Given the description of an element on the screen output the (x, y) to click on. 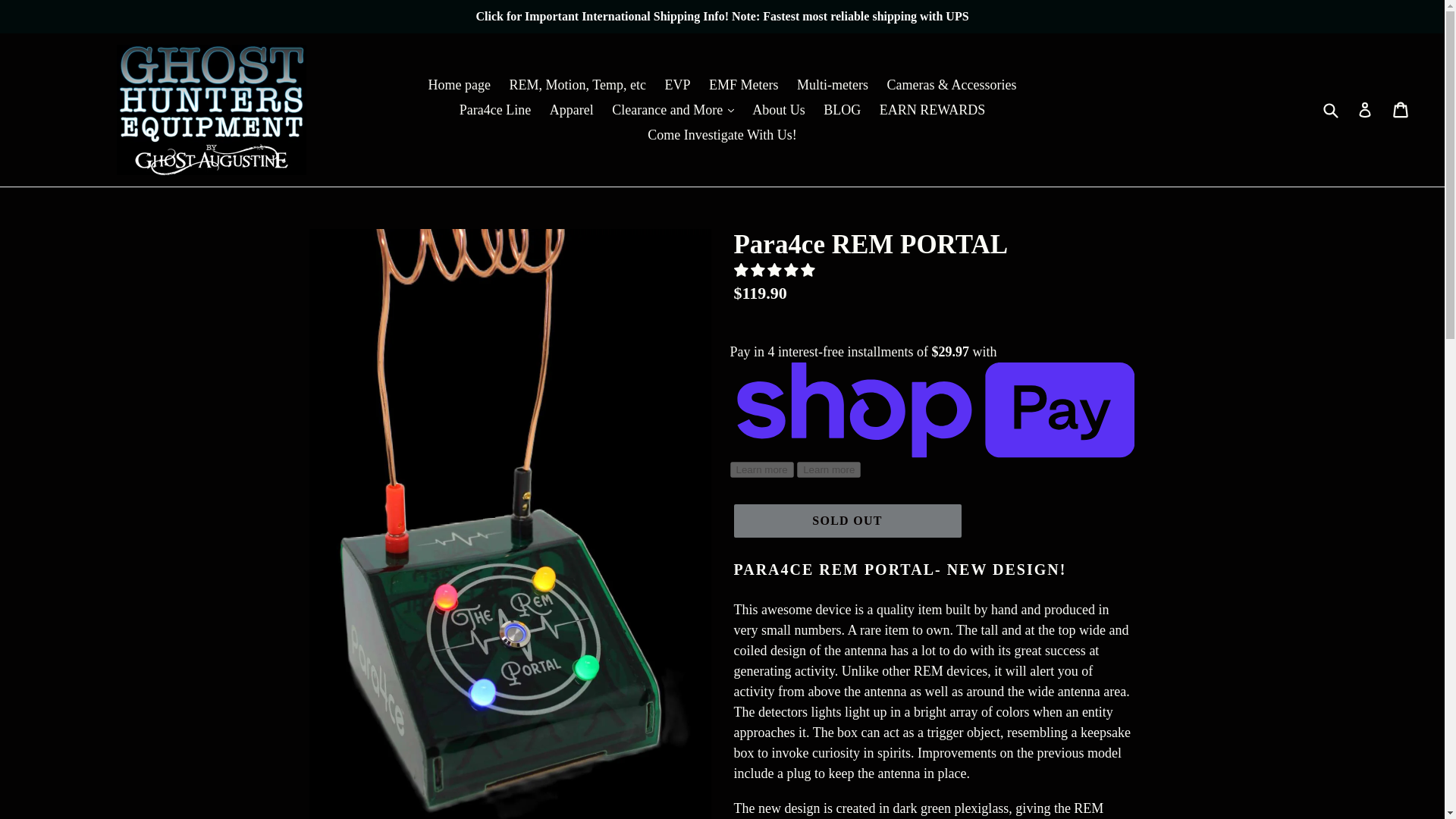
EMF Meters (743, 84)
Multi-meters (832, 84)
Home page (458, 84)
Apparel (571, 109)
About Us (778, 109)
EVP (676, 84)
REM, Motion, Temp, etc (577, 84)
Para4ce Line (494, 109)
